Given the description of an element on the screen output the (x, y) to click on. 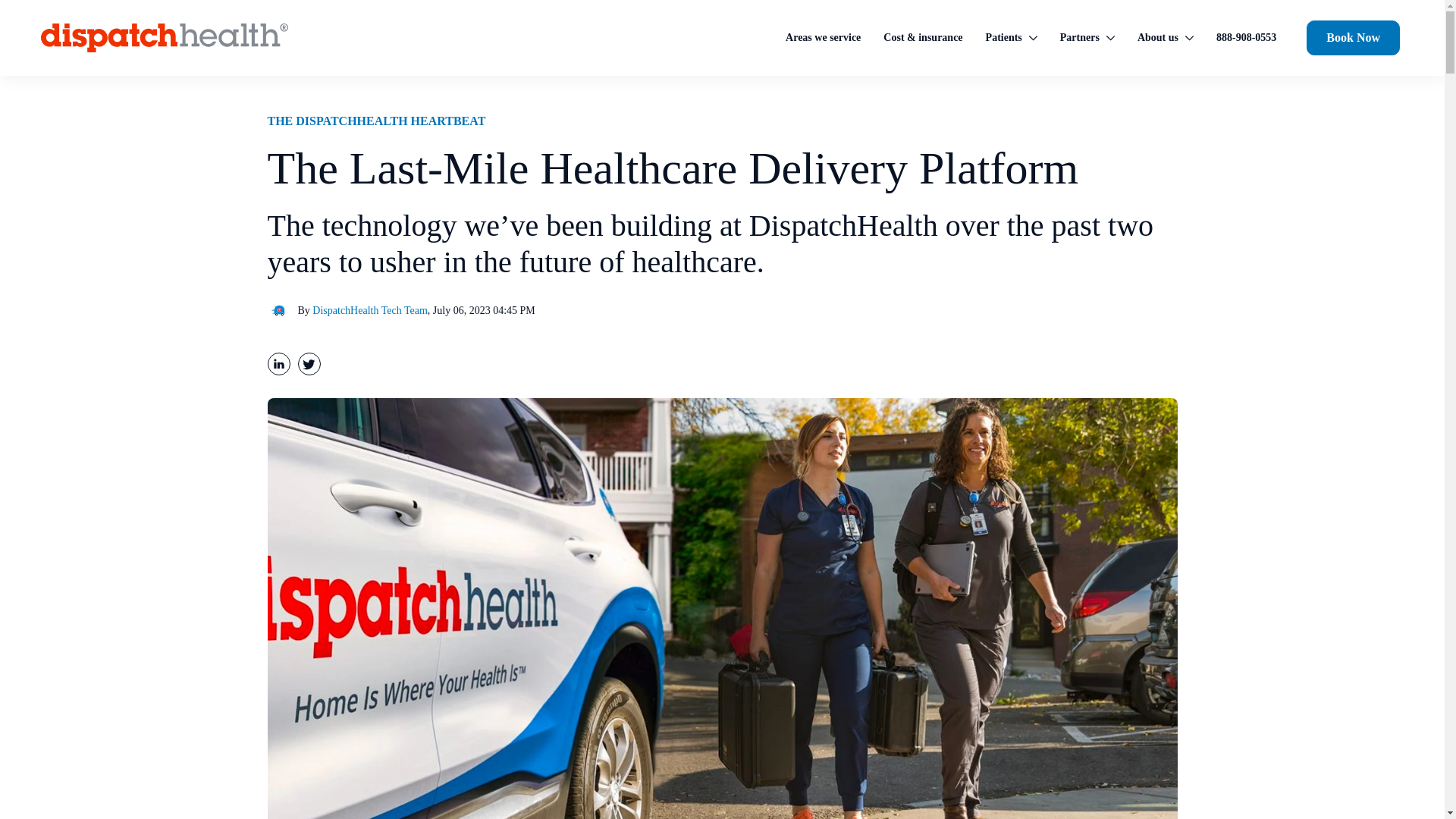
Areas we service (822, 39)
Patients (1011, 39)
